Given the description of an element on the screen output the (x, y) to click on. 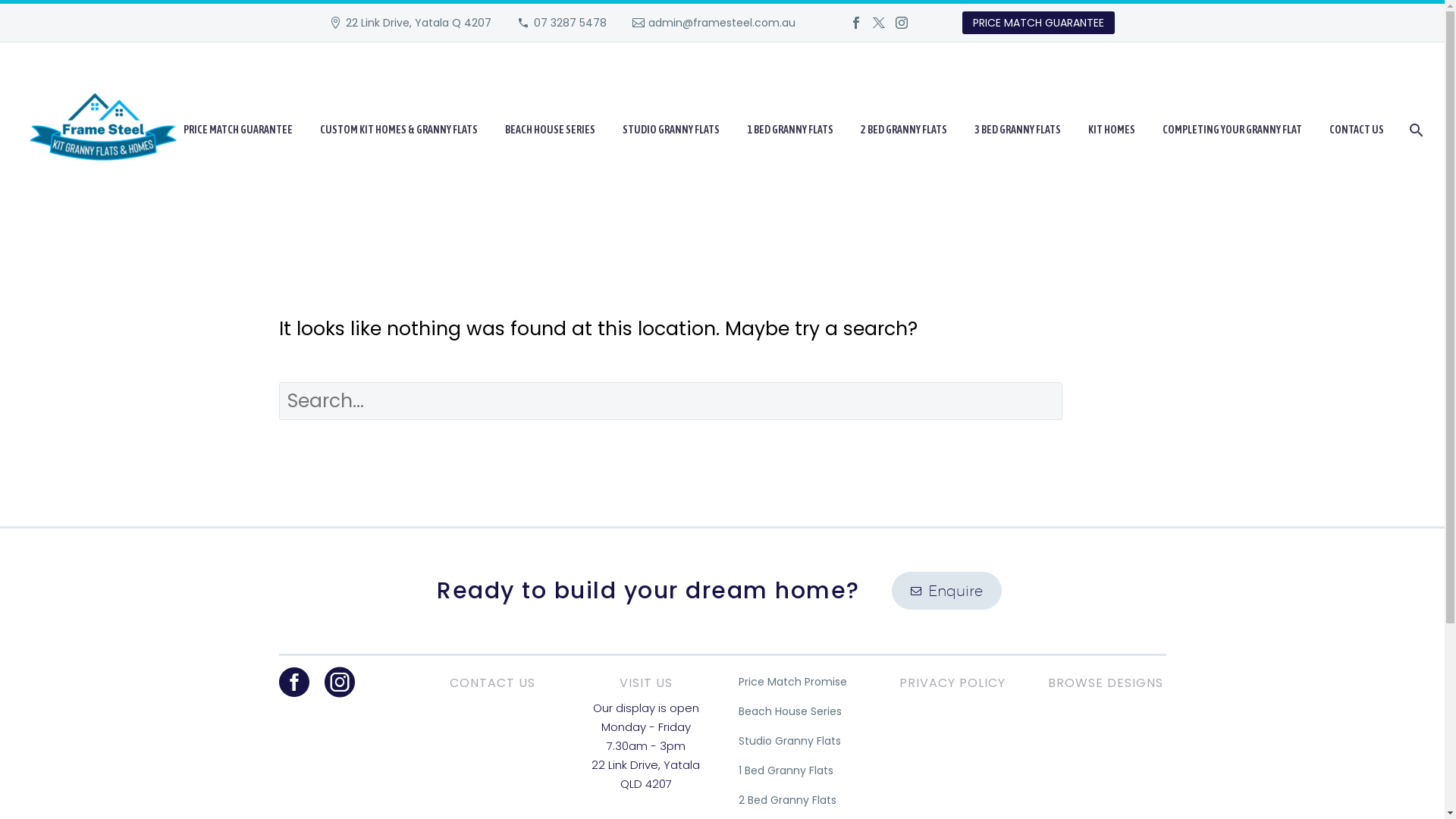
KIT HOMES Element type: text (1111, 128)
3 BED GRANNY FLATS Element type: text (1017, 128)
PRIVACY POLICY Element type: text (952, 682)
Beach House Series Element type: text (799, 710)
1 Bed Granny Flats Element type: text (799, 769)
BROWSE DESIGNS Element type: text (1105, 682)
Instagram Element type: hover (901, 22)
Studio Granny Flats Element type: text (799, 741)
VISIT US Element type: text (644, 682)
admin@framesteel.com.au Element type: text (721, 22)
SEARCH Element type: text (1124, 401)
PRICE MATCH GUARANTEE Element type: text (238, 128)
1 BED GRANNY FLATS Element type: text (789, 128)
BEACH HOUSE SERIES Element type: text (549, 128)
2 Bed Granny Flats Element type: text (799, 800)
07 3287 5478 Element type: text (569, 22)
2 BED GRANNY FLATS Element type: text (903, 128)
Price Match Promise Element type: text (799, 681)
Facebook Element type: hover (855, 22)
CONTACT US Element type: text (1356, 128)
CONTACT US Element type: text (492, 682)
PRICE MATCH GUARANTEE Element type: text (1038, 22)
COMPLETING YOUR GRANNY FLAT Element type: text (1232, 128)
Twitter Element type: hover (878, 22)
CUSTOM KIT HOMES & GRANNY FLATS Element type: text (398, 128)
STUDIO GRANNY FLATS Element type: text (671, 128)
